Given the description of an element on the screen output the (x, y) to click on. 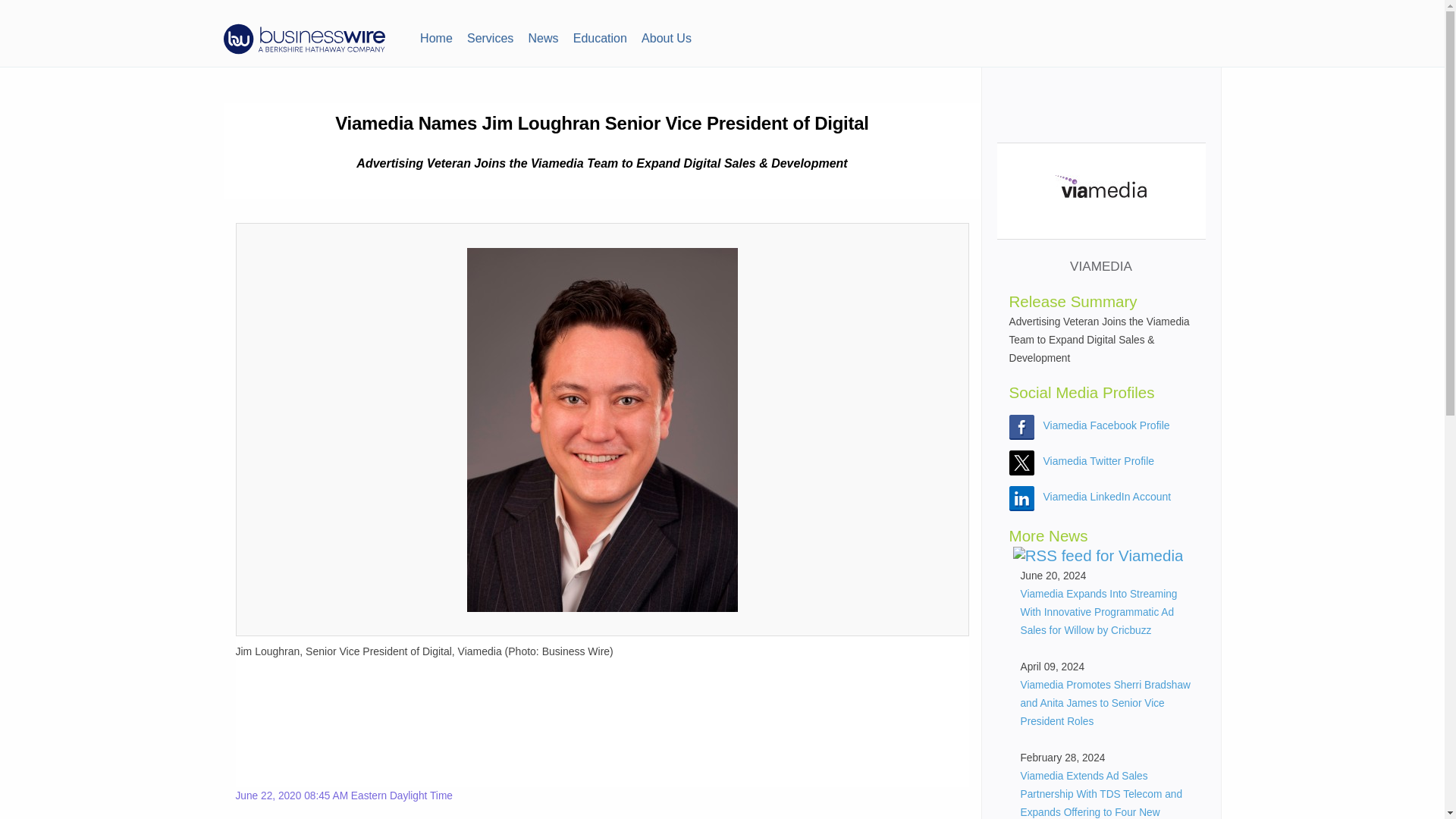
Viamedia Twitter Profile (1098, 460)
RSS feed for Viamedia (1098, 556)
Viamedia Facebook Profile (1106, 425)
Home (436, 36)
News (543, 36)
Viamedia LinkedIn Account (1107, 496)
Services (490, 36)
